Given the description of an element on the screen output the (x, y) to click on. 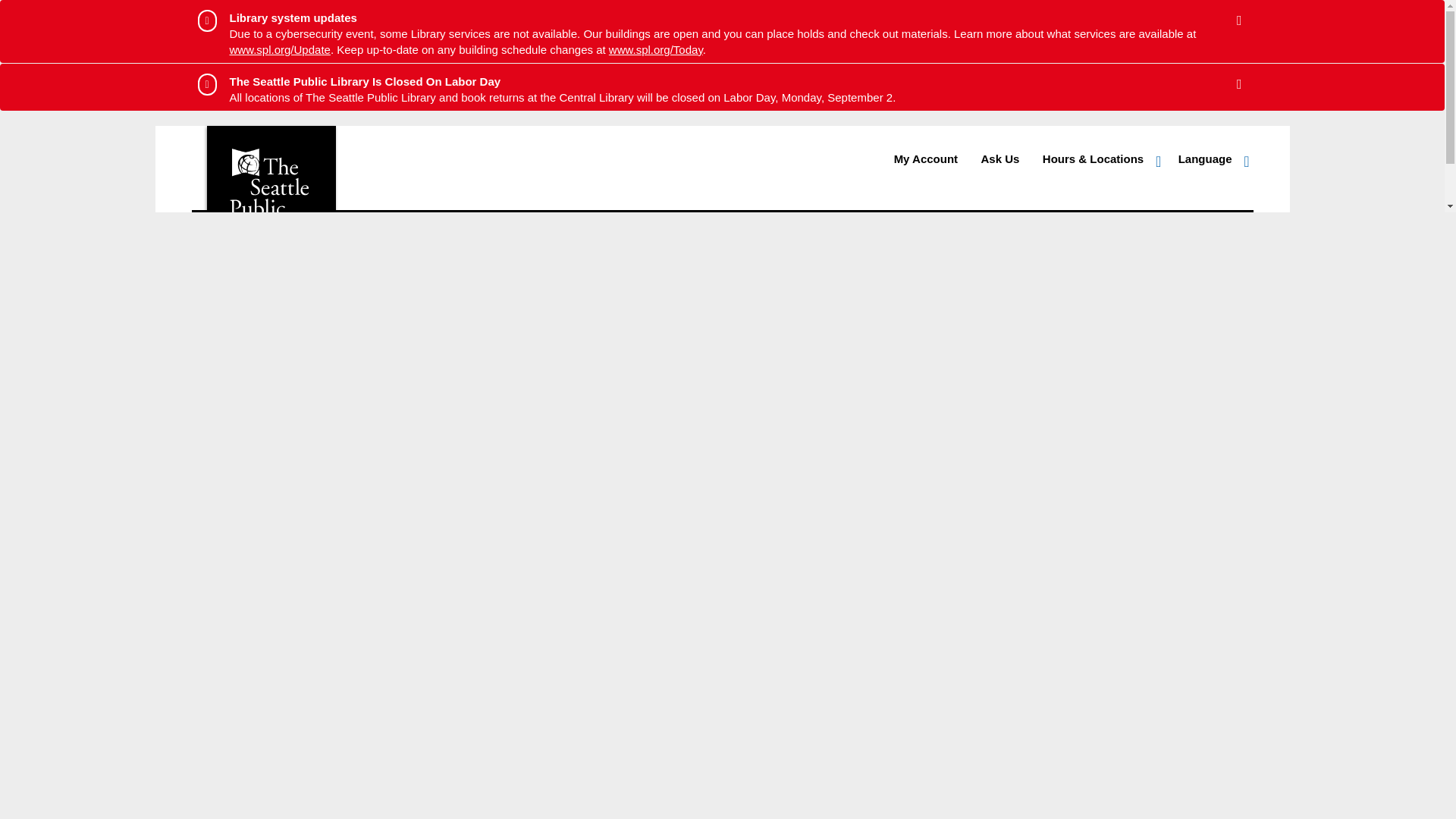
My Account (925, 159)
My Account (925, 159)
Ask Us (1000, 159)
Ask Us (1000, 159)
Language (1211, 159)
